Given the description of an element on the screen output the (x, y) to click on. 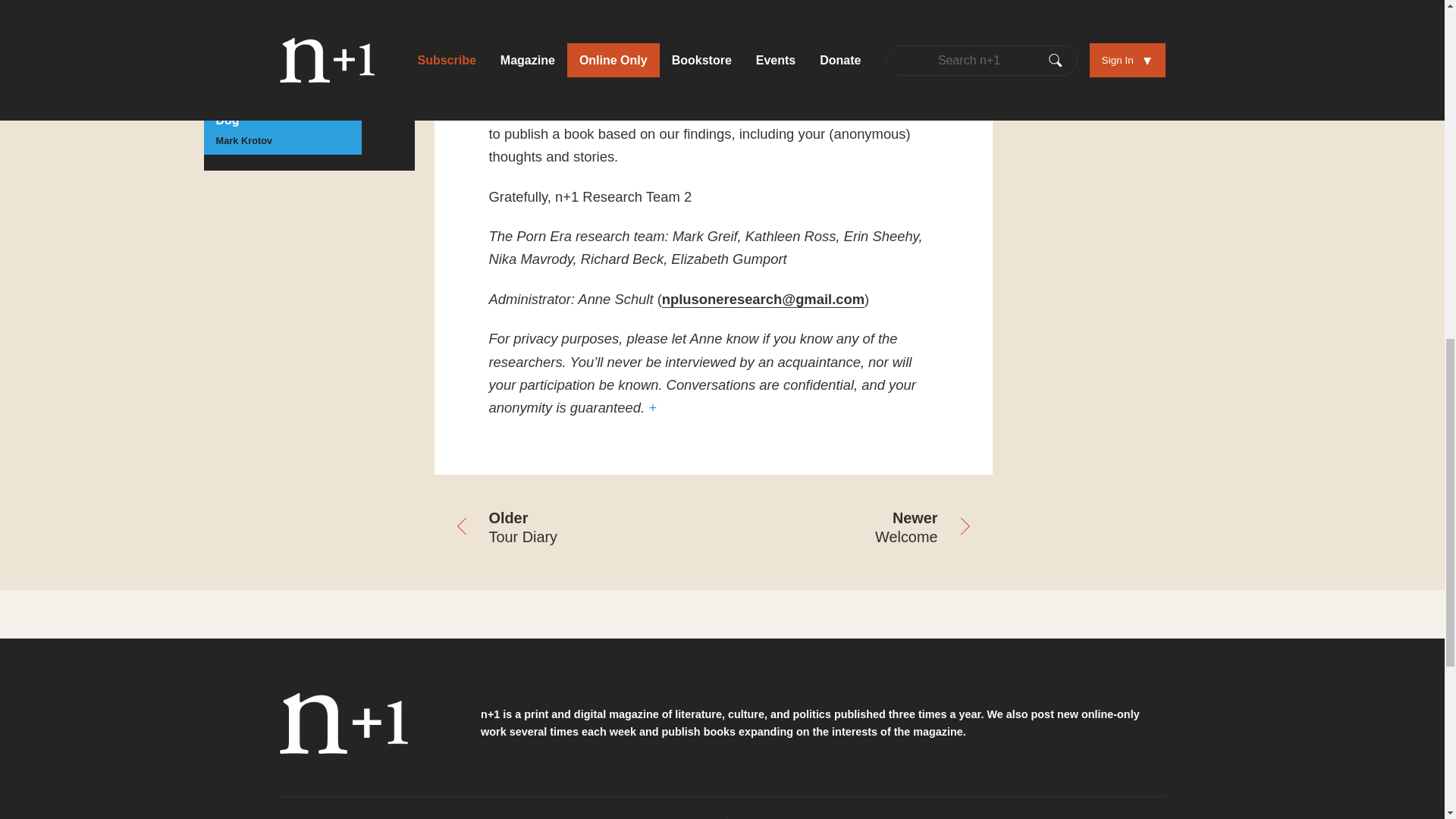
Welcome (852, 528)
Tour Diary (573, 528)
